Given the description of an element on the screen output the (x, y) to click on. 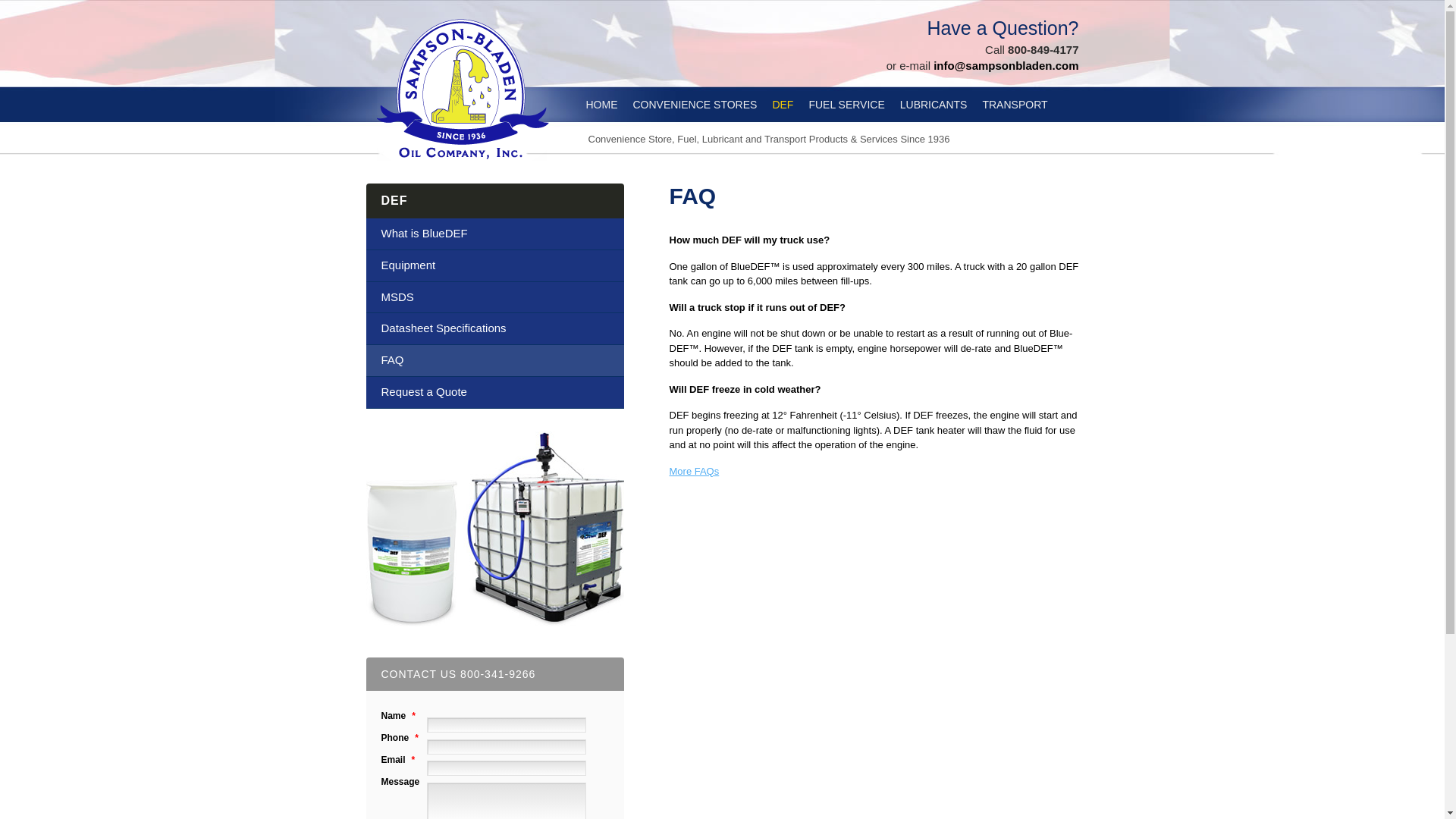
What is BlueDEF (494, 234)
TRANSPORT (1014, 104)
Equipment (494, 265)
DEF (393, 200)
DEF (782, 104)
MSDS (494, 297)
Datasheet Specifications (494, 328)
CONVENIENCE STORES (694, 104)
More FAQs (693, 471)
LUBRICANTS (933, 104)
